Given the description of an element on the screen output the (x, y) to click on. 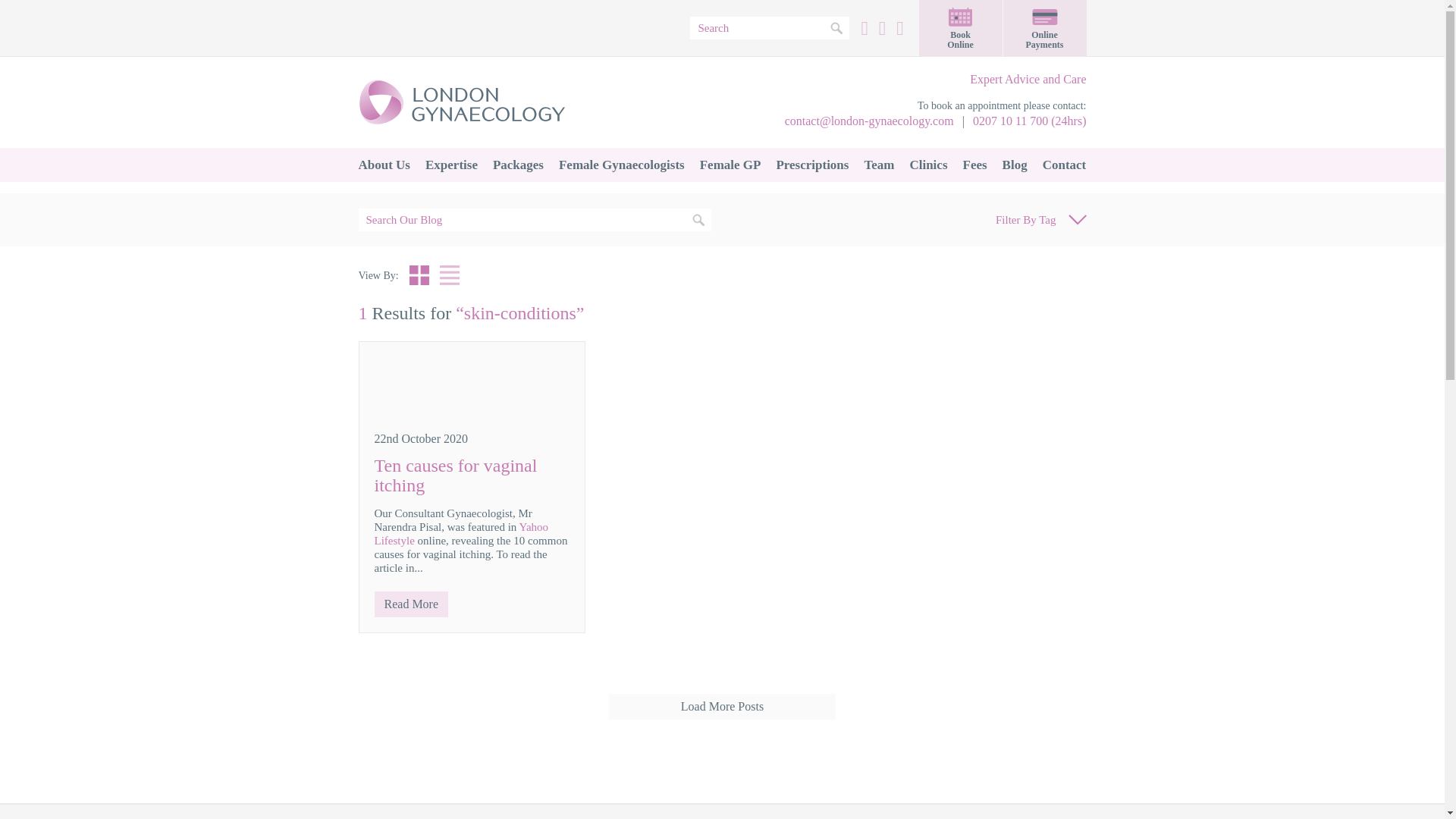
About Us (383, 164)
Expertise (450, 164)
Book Online (960, 28)
Online Payments (1044, 28)
